Given the description of an element on the screen output the (x, y) to click on. 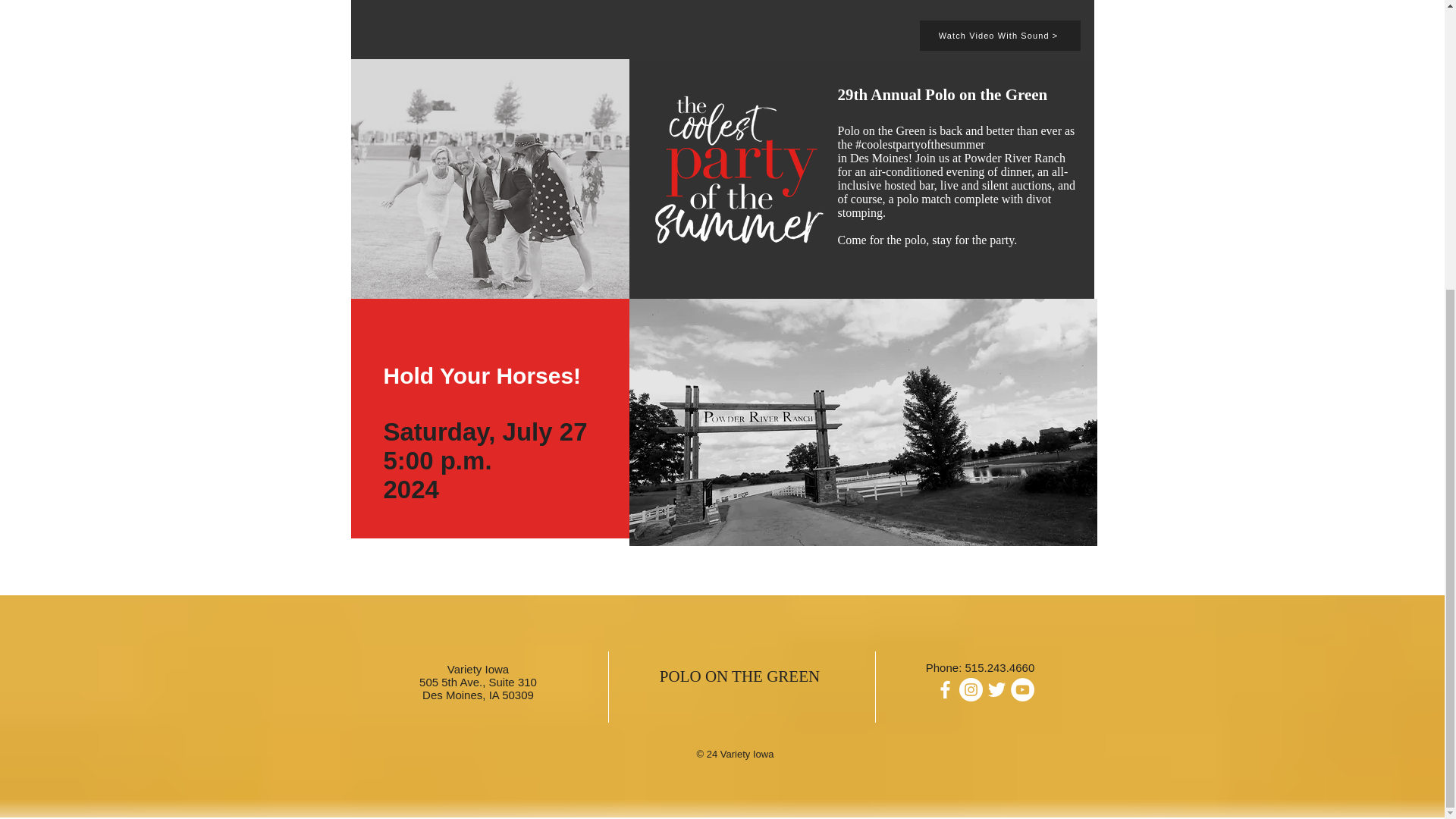
2014 Polo on the Green 171.jpg (489, 178)
Saturday, July 27 (486, 431)
POLO ON THE GREEN (739, 676)
Hold Your Horses! (482, 375)
